Given the description of an element on the screen output the (x, y) to click on. 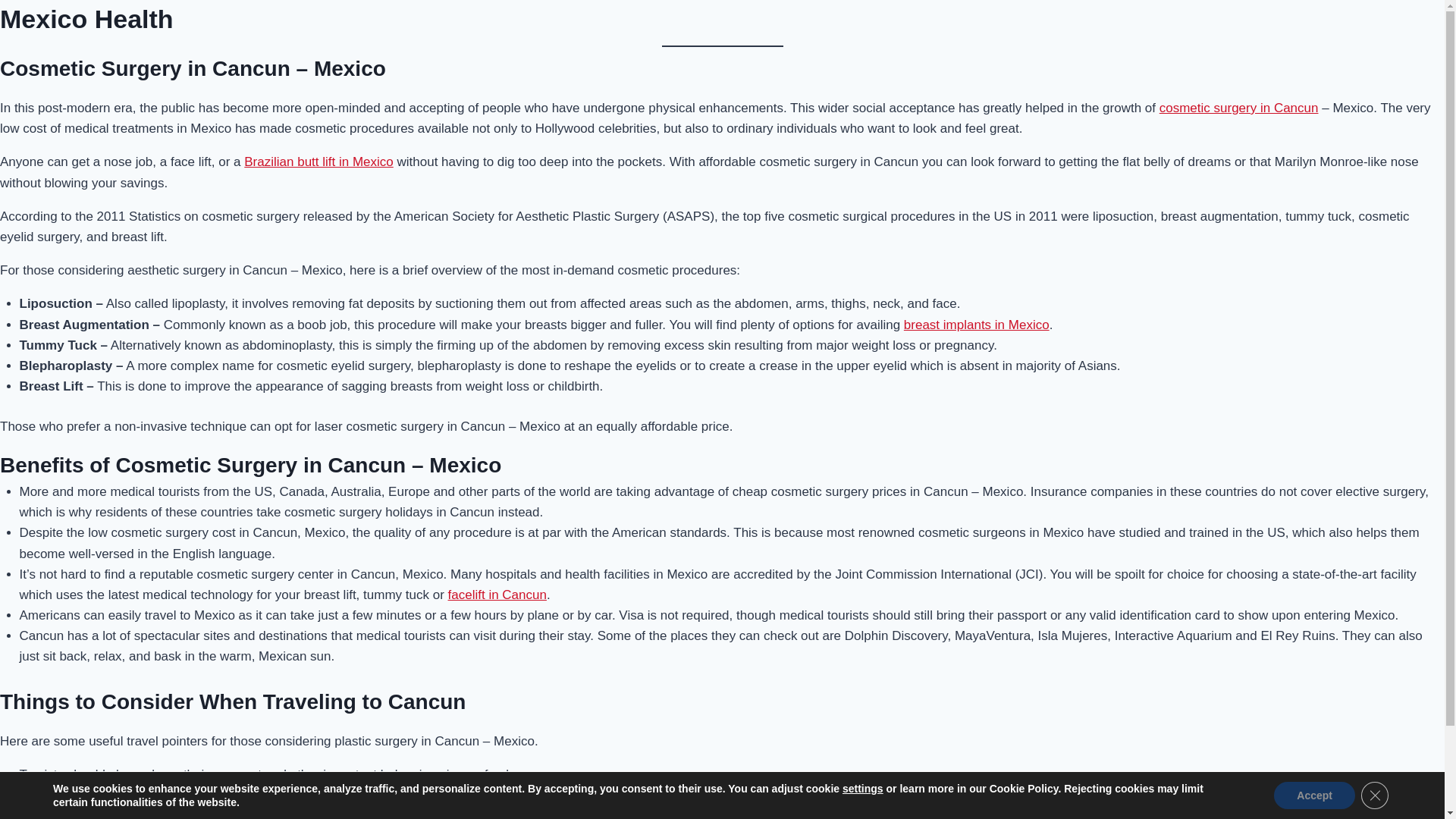
breast implants in Mexico (976, 323)
Breast Implants in Mexico (976, 323)
Facelift in Cancun (497, 594)
Brazilian butt lift in Mexico (318, 161)
Brazilian Butt Lift in Mexico (318, 161)
facelift in Cancun (497, 594)
cosmetic surgery in Cancun (1238, 107)
Close GDPR Cookie Banner (1375, 795)
Cosmetic Surgery in Cancun (1238, 107)
Accept (1314, 795)
Mexico Health (86, 18)
